Given the description of an element on the screen output the (x, y) to click on. 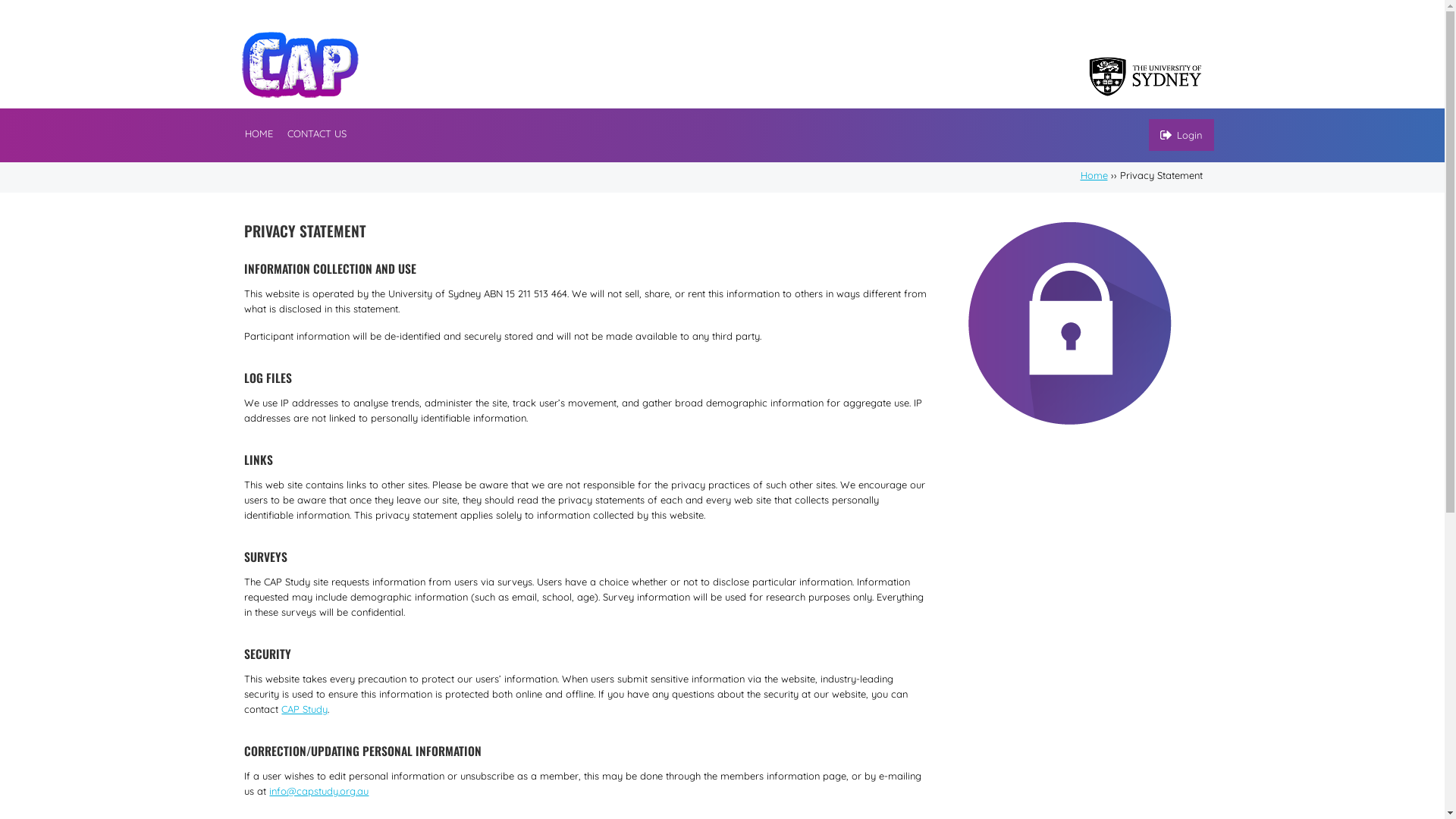
Login Element type: text (1181, 134)
HOME Element type: text (261, 134)
CAP Study Element type: text (304, 708)
CONTACT US Element type: text (316, 134)
info@capstudy.org.au Element type: text (318, 790)
Home Element type: text (1093, 175)
